Given the description of an element on the screen output the (x, y) to click on. 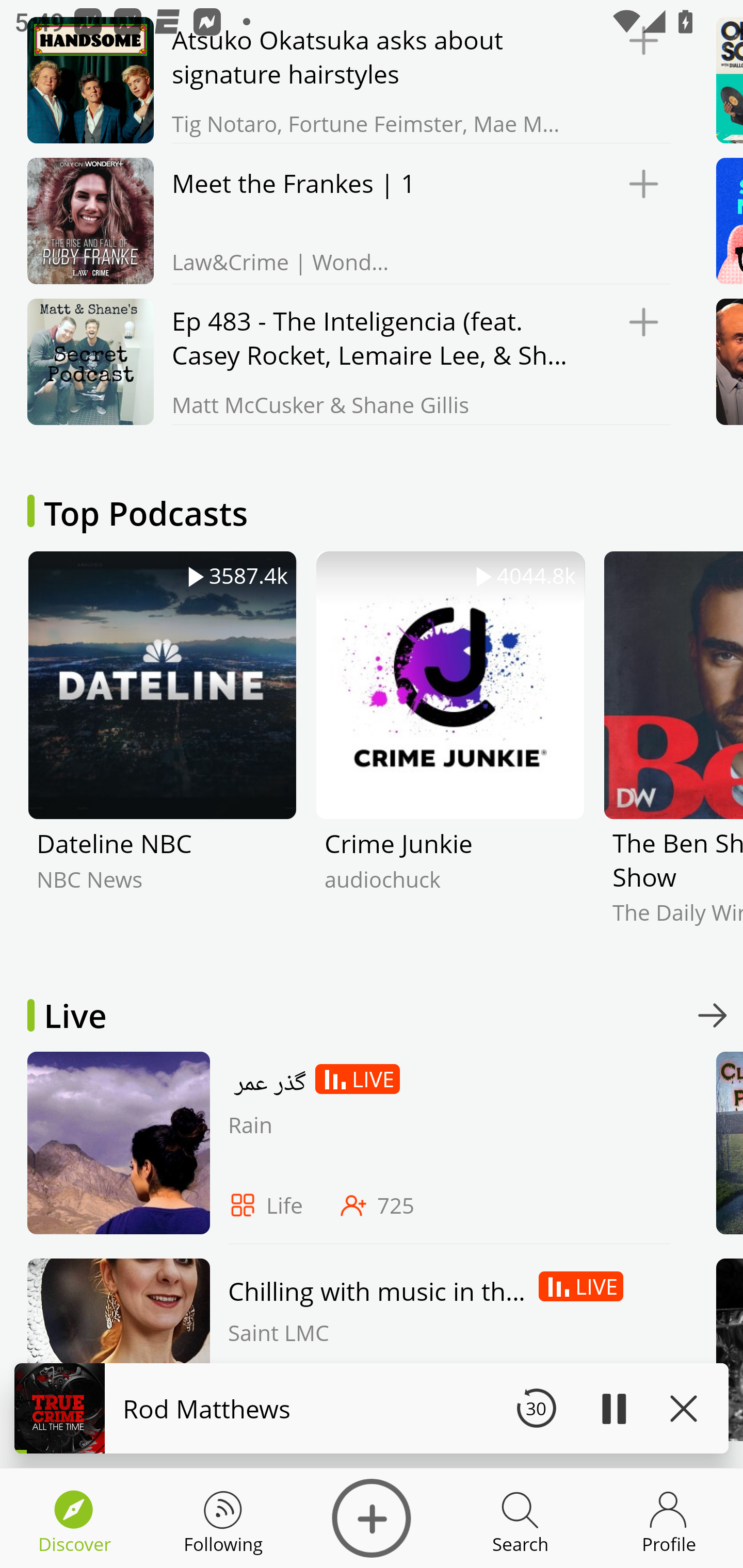
Meet the Frankes | 1 Law&Crime | Wondery (344, 220)
3587.4k Dateline NBC NBC News (162, 753)
4044.8k Crime Junkie audiochuck (450, 753)
The Ben Shapiro Show The Daily Wire (673, 753)
گذر عمر  LIVE Rain Life 725 (344, 1147)
Rod Matthews 30 Seek Backward 83934.0 Play (371, 1407)
Play (613, 1407)
30 Seek Backward (536, 1407)
Discover Following (222, 1518)
Discover (371, 1518)
Discover Search (519, 1518)
Discover Profile (668, 1518)
